Given the description of an element on the screen output the (x, y) to click on. 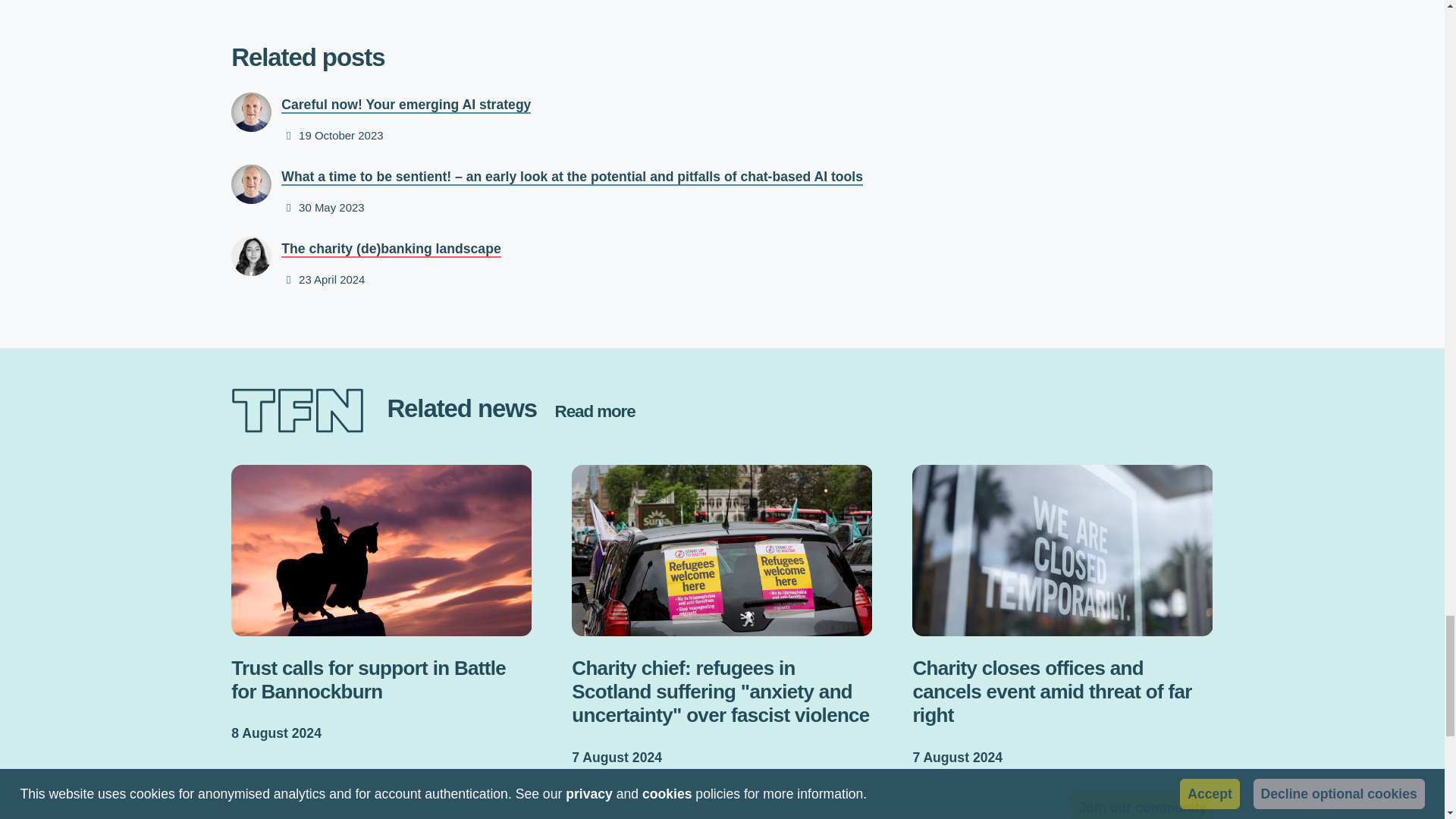
Read more by John Fitzgerald (250, 111)
Read more by Kyrstie Brown (250, 255)
Read more by John Fitzgerald (250, 183)
Trust calls for support in Battle for Bannockburn (381, 605)
